Given the description of an element on the screen output the (x, y) to click on. 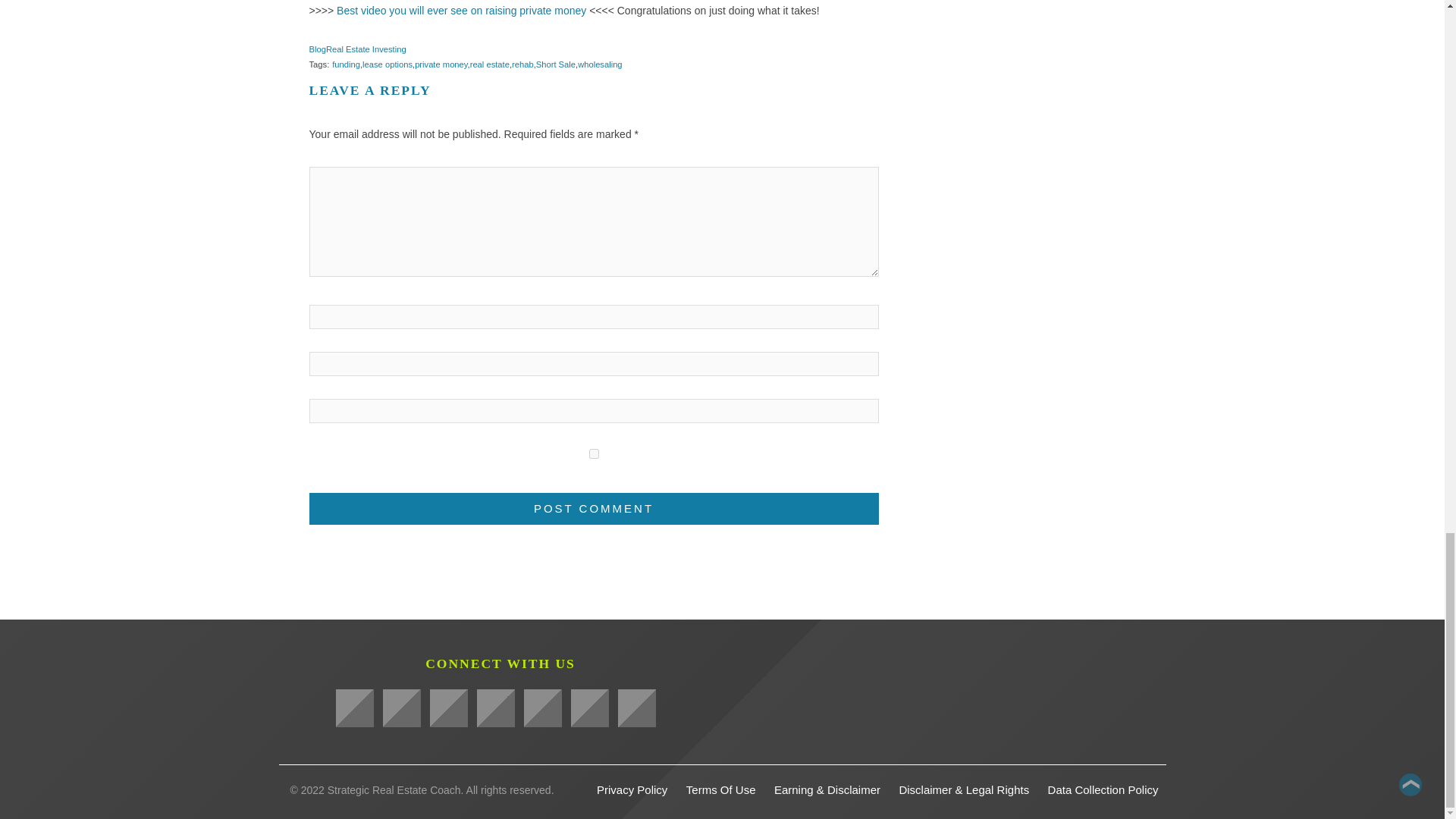
lease options (387, 63)
Post Comment (593, 508)
Blog (317, 49)
funding (345, 63)
private money (440, 63)
rehab (523, 63)
Short Sale (555, 63)
real estate (489, 63)
yes (593, 453)
Post Comment (593, 508)
Best video you will ever see on raising private money (461, 10)
Real Estate Investing (366, 49)
wholesaling (599, 63)
